Given the description of an element on the screen output the (x, y) to click on. 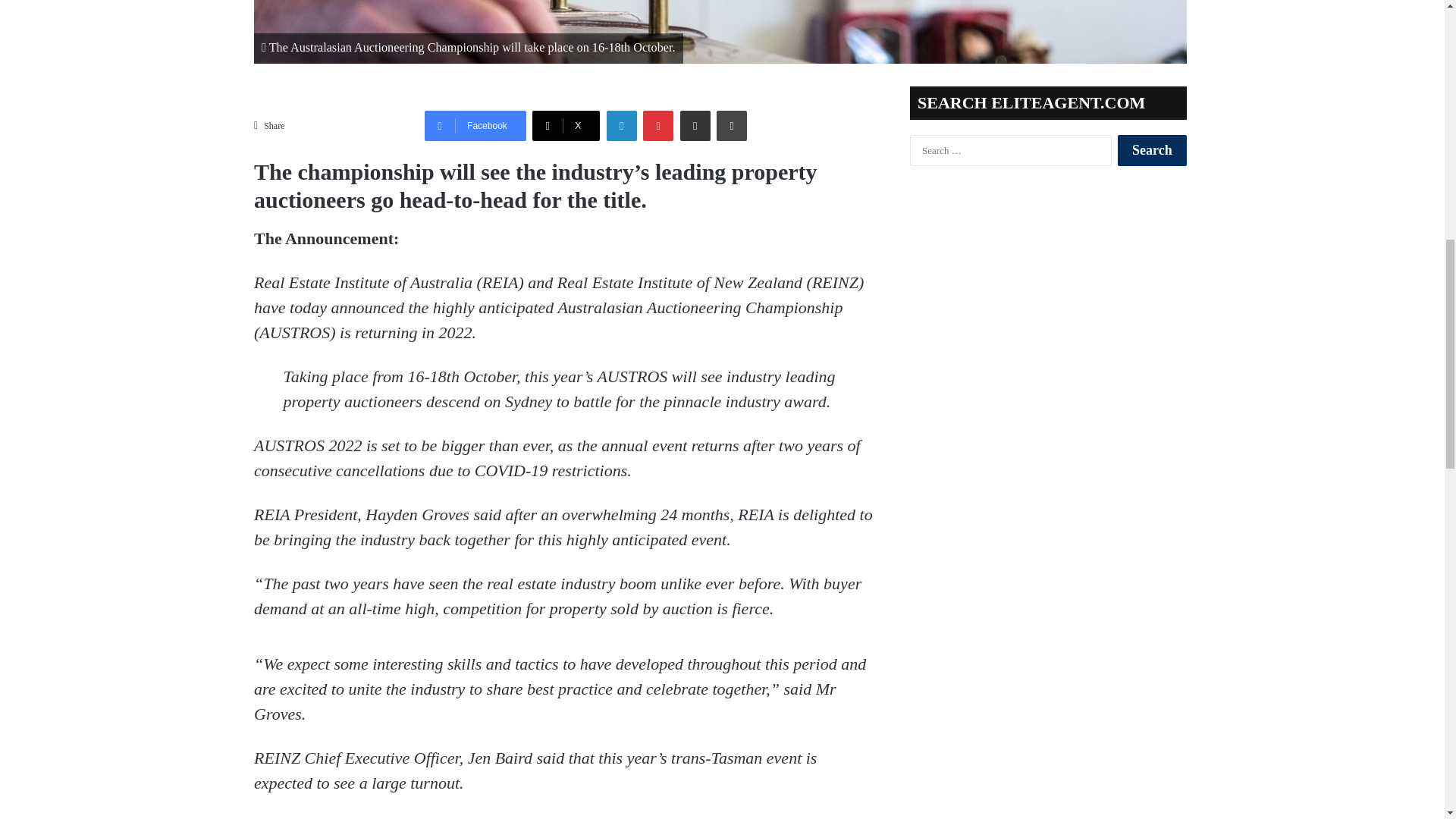
LinkedIn (622, 125)
Print (731, 125)
Search (1152, 150)
X (565, 125)
Search (1152, 150)
Pinterest (657, 125)
Facebook (475, 125)
Share via Email (694, 125)
